Given the description of an element on the screen output the (x, y) to click on. 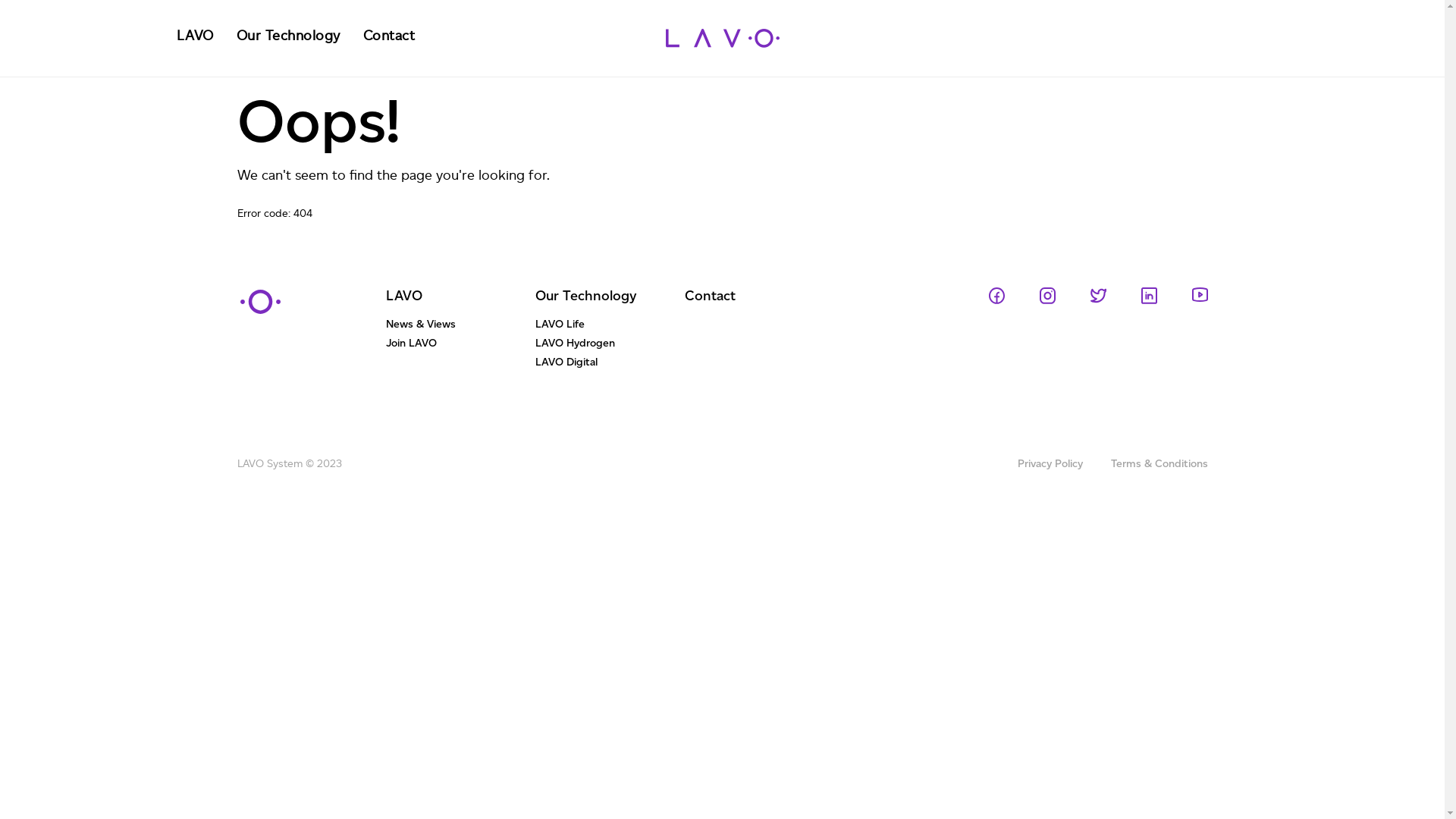
LAVO Life Element type: text (609, 326)
Our Technology Element type: text (586, 295)
Contact Element type: text (388, 36)
LAVO Element type: text (403, 295)
Privacy Policy Element type: text (1063, 463)
LAVO Hydrogen Element type: text (609, 345)
Contact Element type: text (709, 295)
News & Views Element type: text (460, 326)
Terms & Conditions Element type: text (1158, 463)
Our Technology Element type: text (288, 36)
LAVO Element type: text (194, 36)
Join LAVO Element type: text (460, 345)
LAVO Digital Element type: text (609, 364)
